Given the description of an element on the screen output the (x, y) to click on. 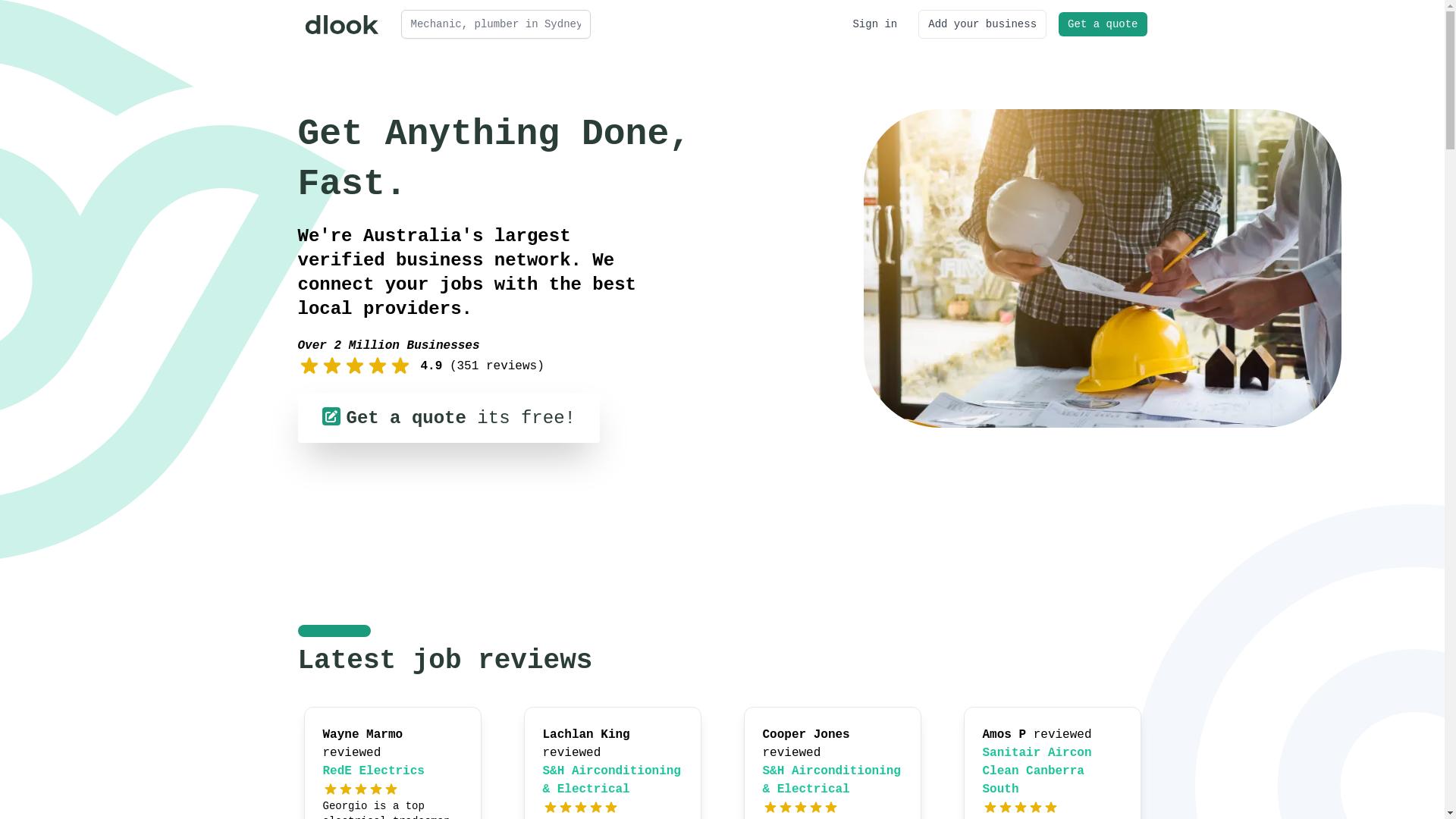
Get a quote its free! Element type: text (448, 417)
Add your business Element type: text (982, 23)
Sanitair Aircon Clean Canberra South Element type: text (1037, 771)
S&H Airconditioning & Electrical Element type: text (611, 780)
Sign in Element type: text (874, 23)
S&H Airconditioning & Electrical Element type: text (831, 780)
Get a quote Element type: text (1102, 24)
RedE Electrics Element type: text (373, 771)
